Given the description of an element on the screen output the (x, y) to click on. 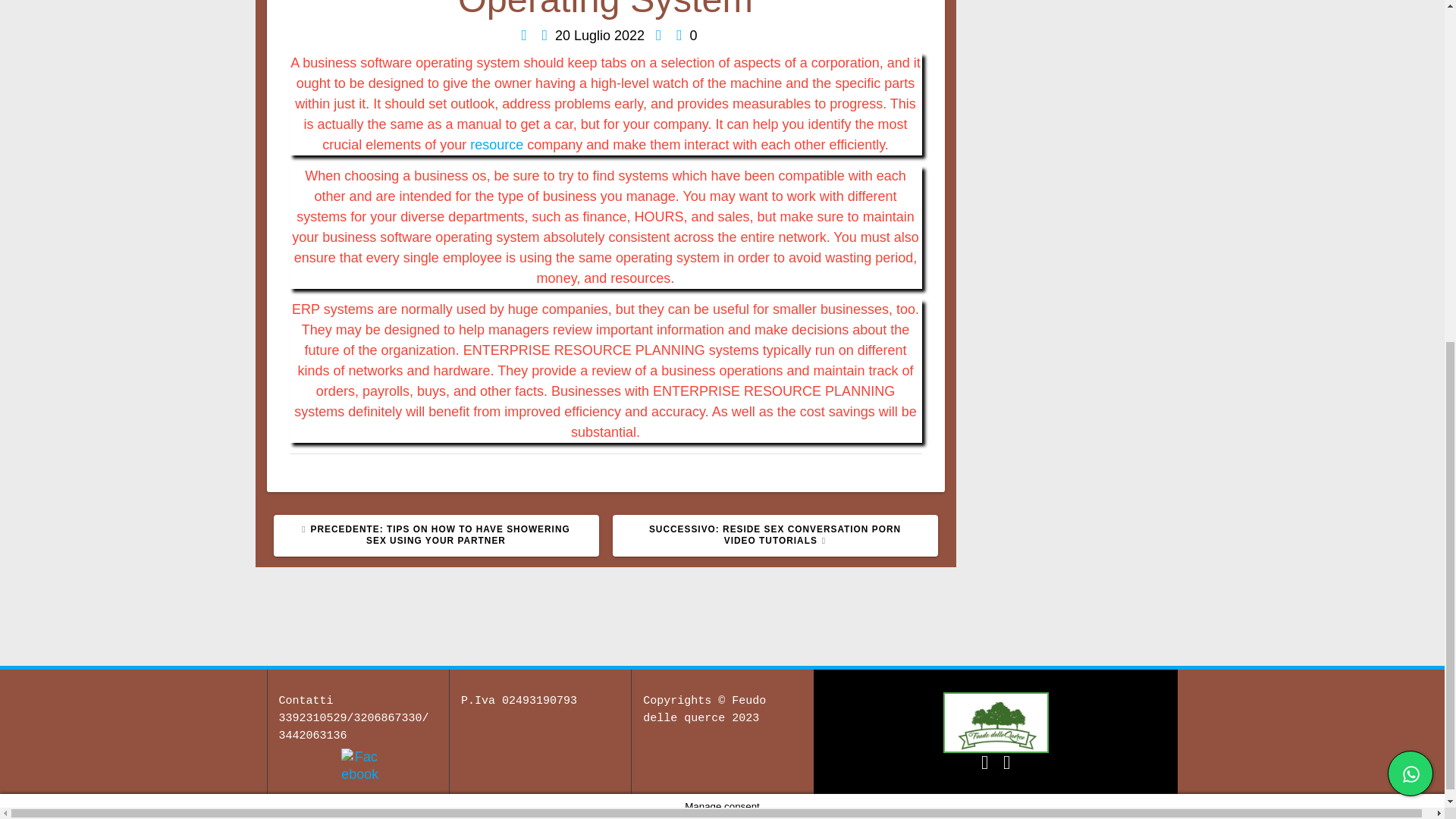
Facebook (359, 765)
resource (496, 144)
